Given the description of an element on the screen output the (x, y) to click on. 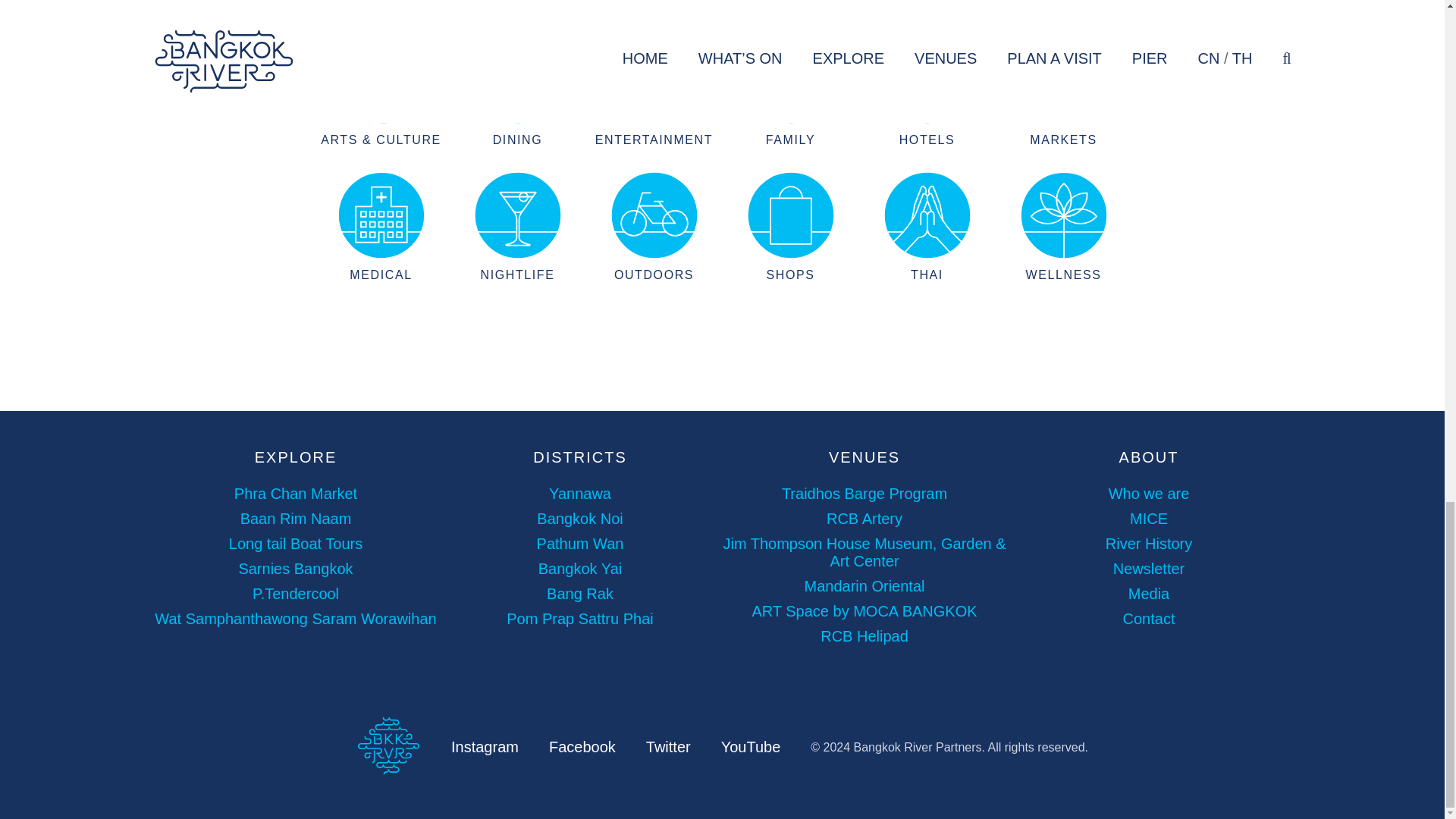
DINING (517, 91)
FAMILY (789, 91)
MARKETS (1063, 91)
ENTERTAINMENT (653, 91)
HOTELS (926, 91)
